Given the description of an element on the screen output the (x, y) to click on. 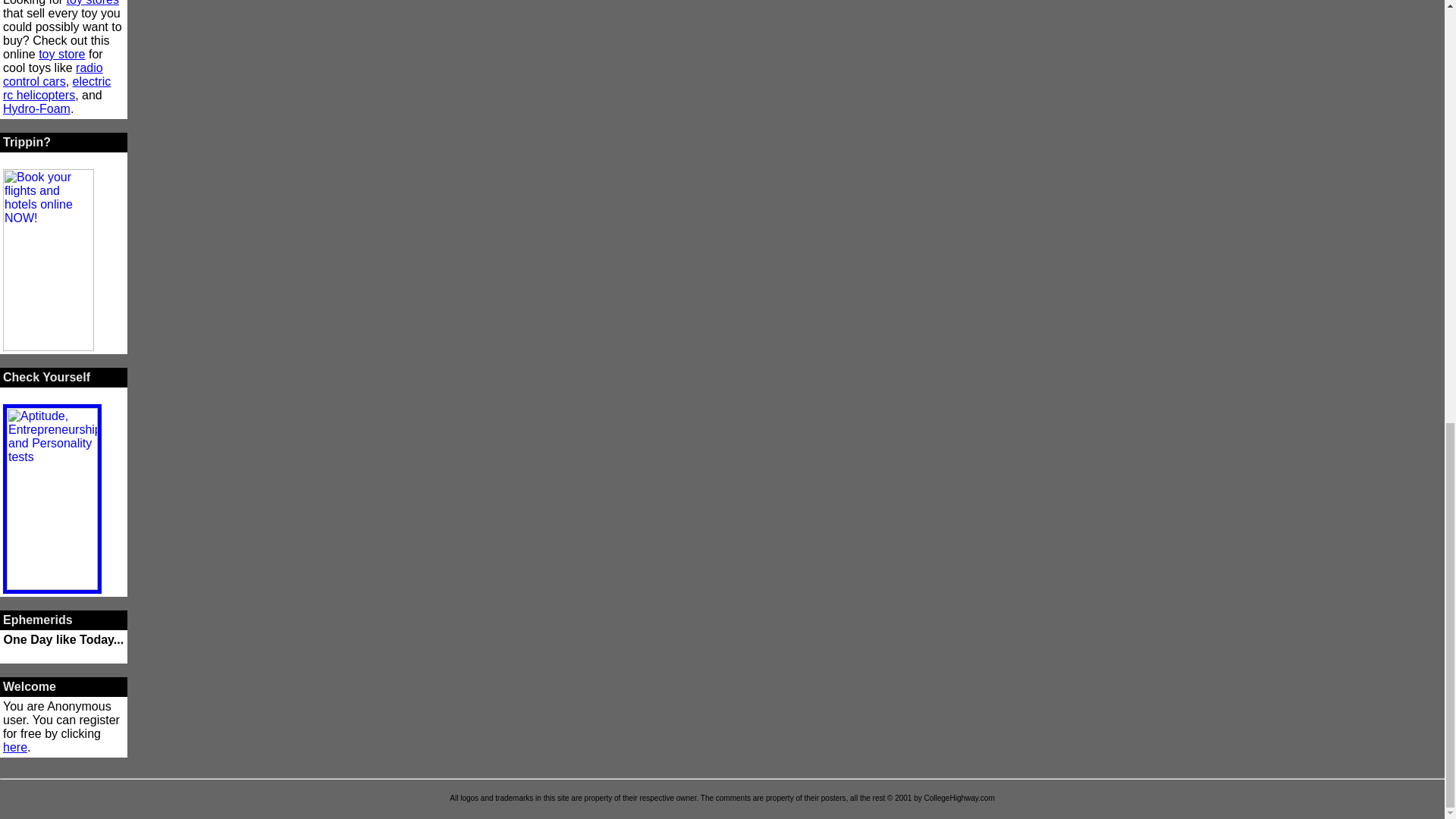
radio control cars (52, 74)
toy store (61, 53)
Hydro-Foam (35, 108)
here (14, 747)
toy stores (92, 2)
electric rc helicopters (56, 88)
